Given the description of an element on the screen output the (x, y) to click on. 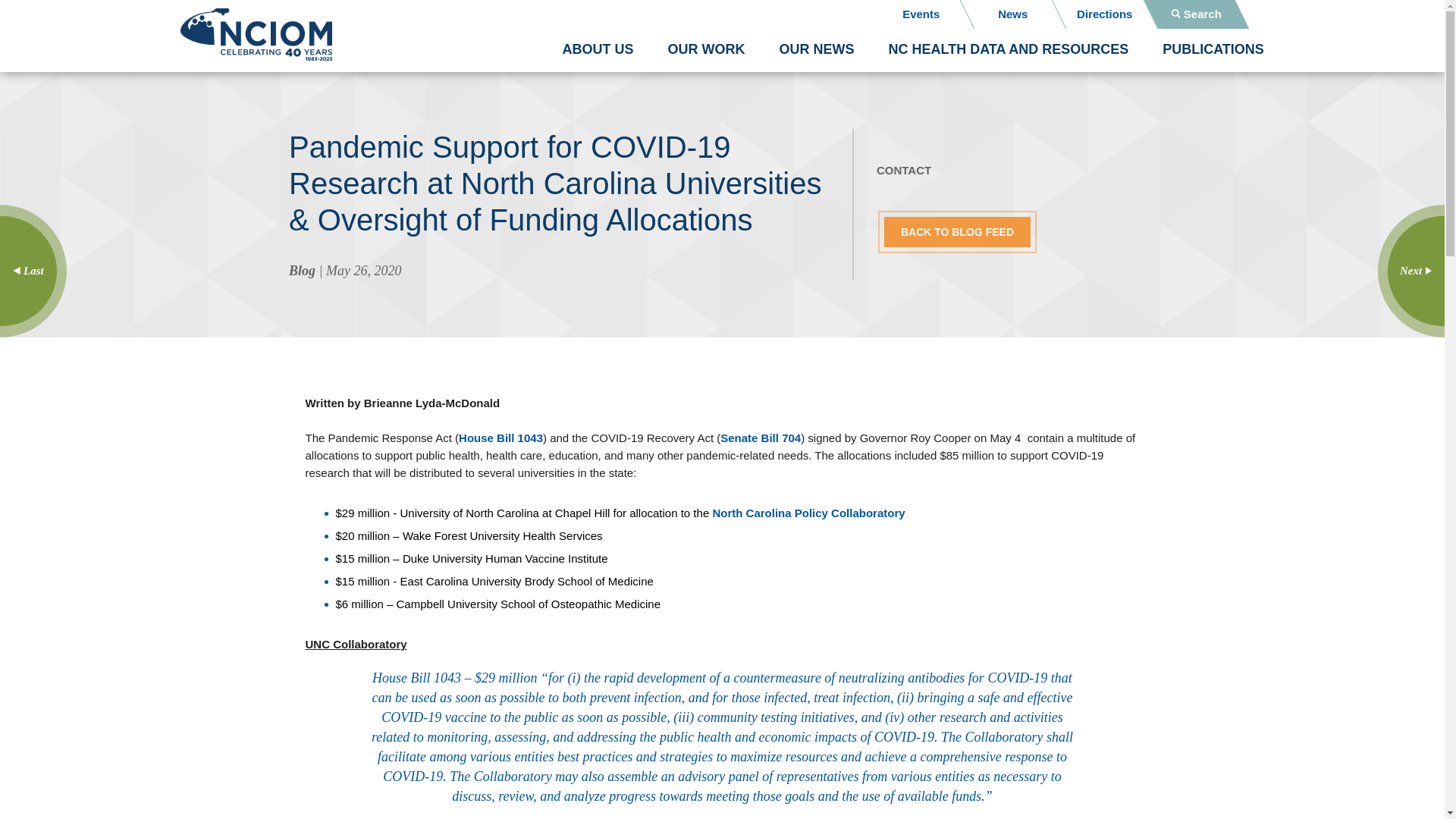
SUBMIT (732, 462)
Events (921, 13)
News (1013, 13)
Directions (1104, 13)
ABOUT US (597, 49)
